Given the description of an element on the screen output the (x, y) to click on. 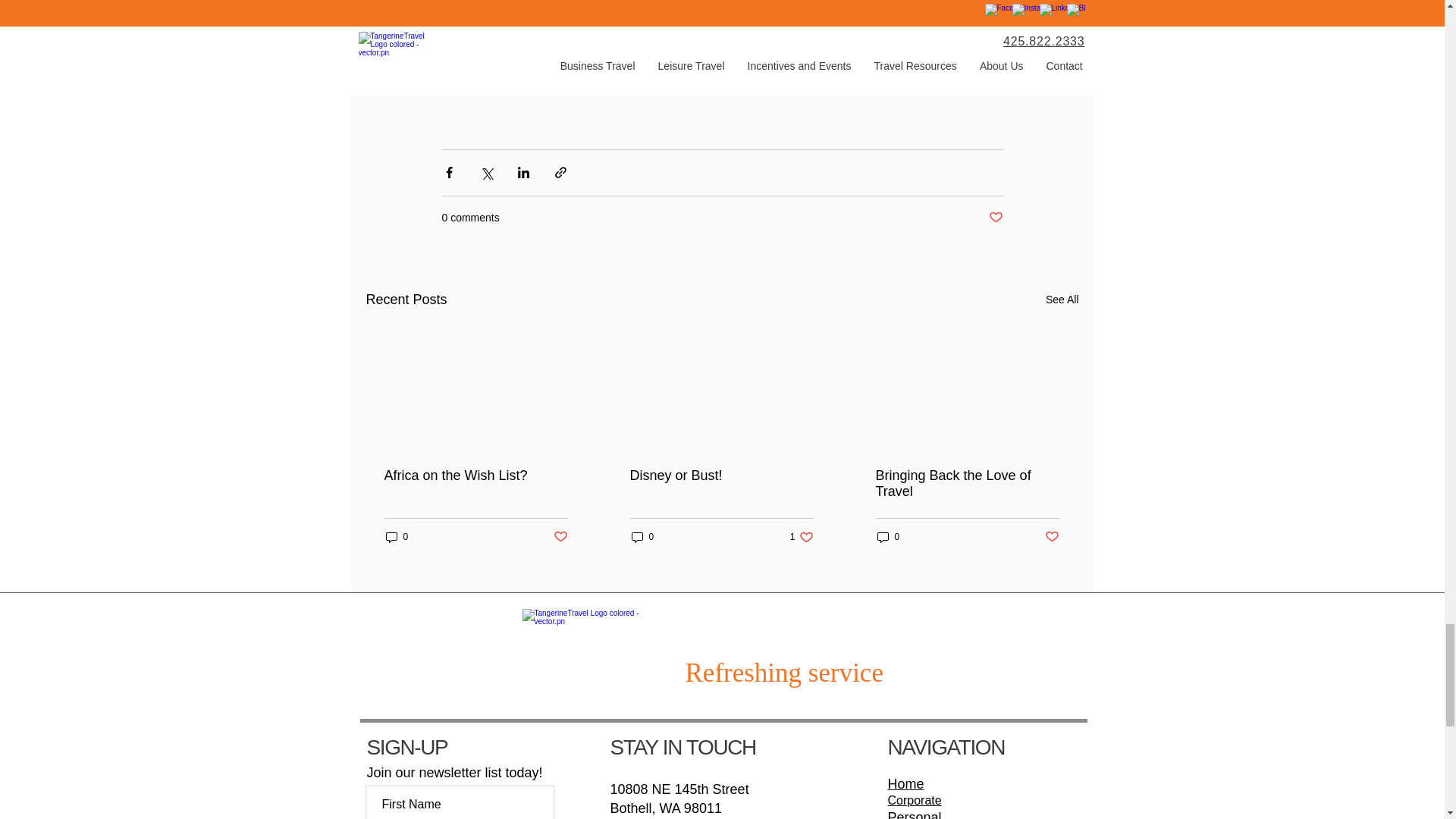
Post not marked as liked (995, 217)
See All (1061, 300)
Africa on the Wish List? (475, 475)
0 (396, 536)
Post not marked as liked (560, 537)
